Given the description of an element on the screen output the (x, y) to click on. 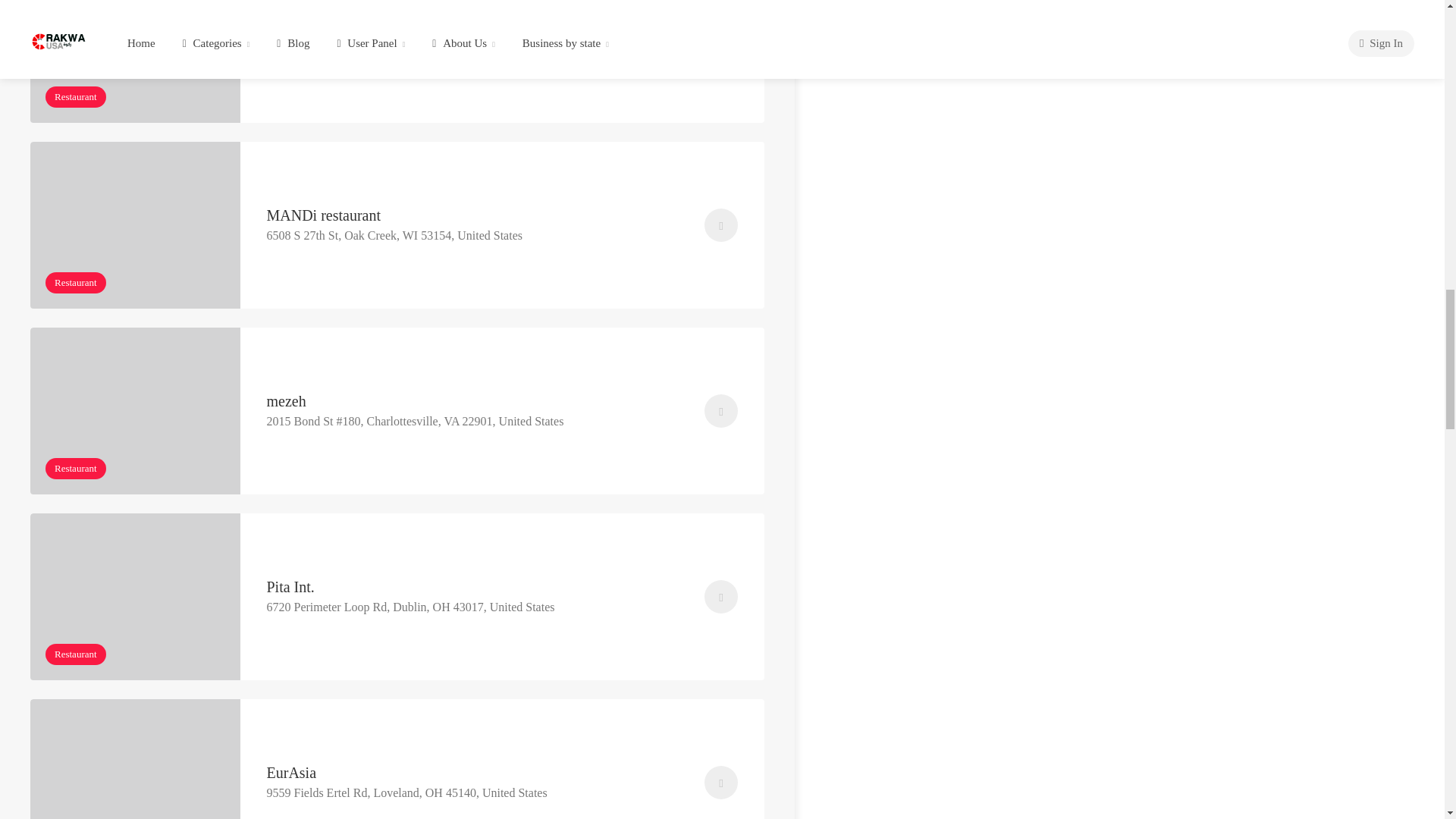
Login To Bookmark Items (721, 410)
Login To Bookmark Items (721, 39)
Login To Bookmark Items (721, 782)
Login To Bookmark Items (721, 596)
Login To Bookmark Items (721, 224)
